Given the description of an element on the screen output the (x, y) to click on. 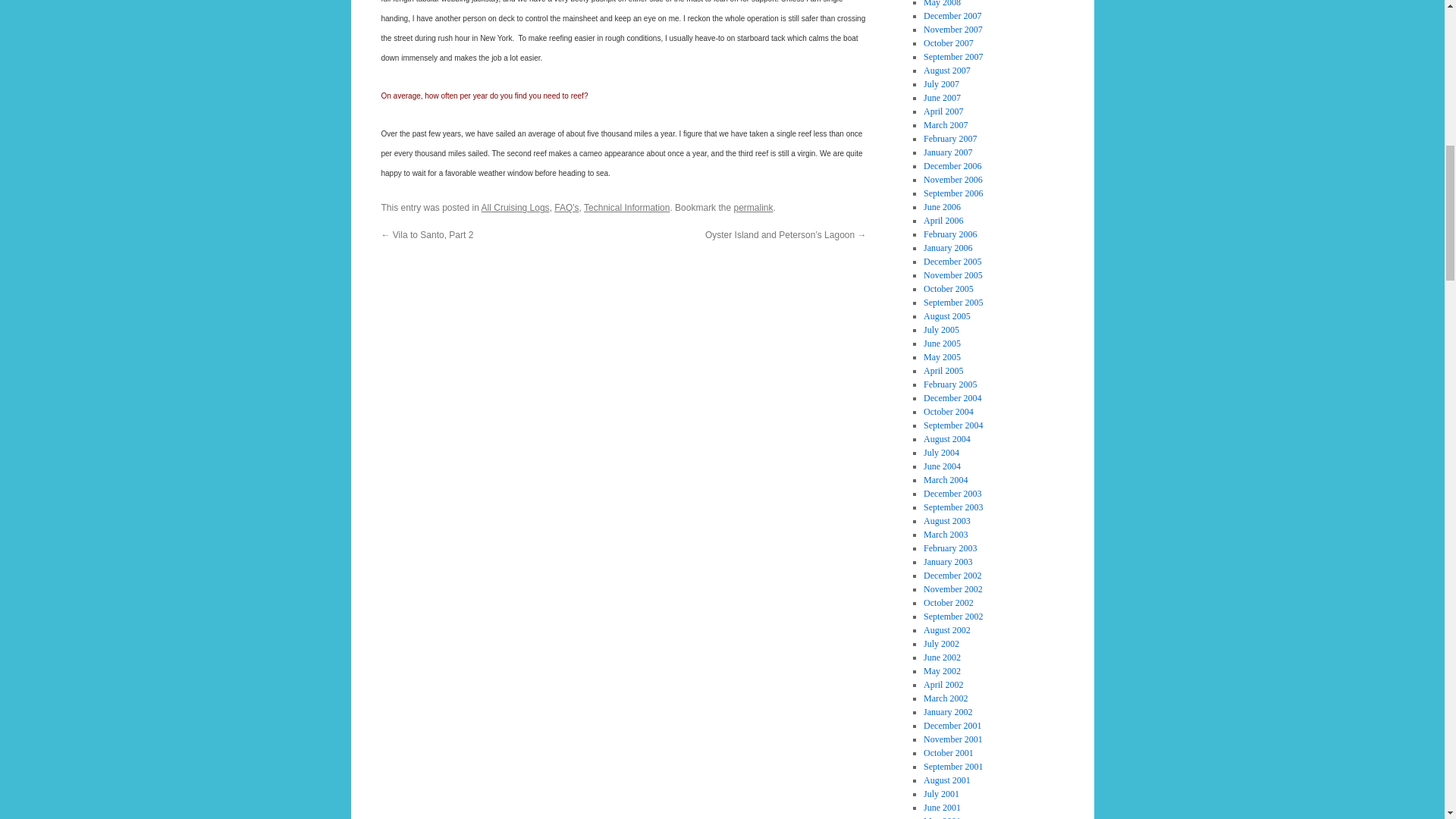
permalink (753, 207)
All Cruising Logs (515, 207)
FAQ's (566, 207)
Technical Information (626, 207)
Permalink to Questions about reefing. (753, 207)
